Given the description of an element on the screen output the (x, y) to click on. 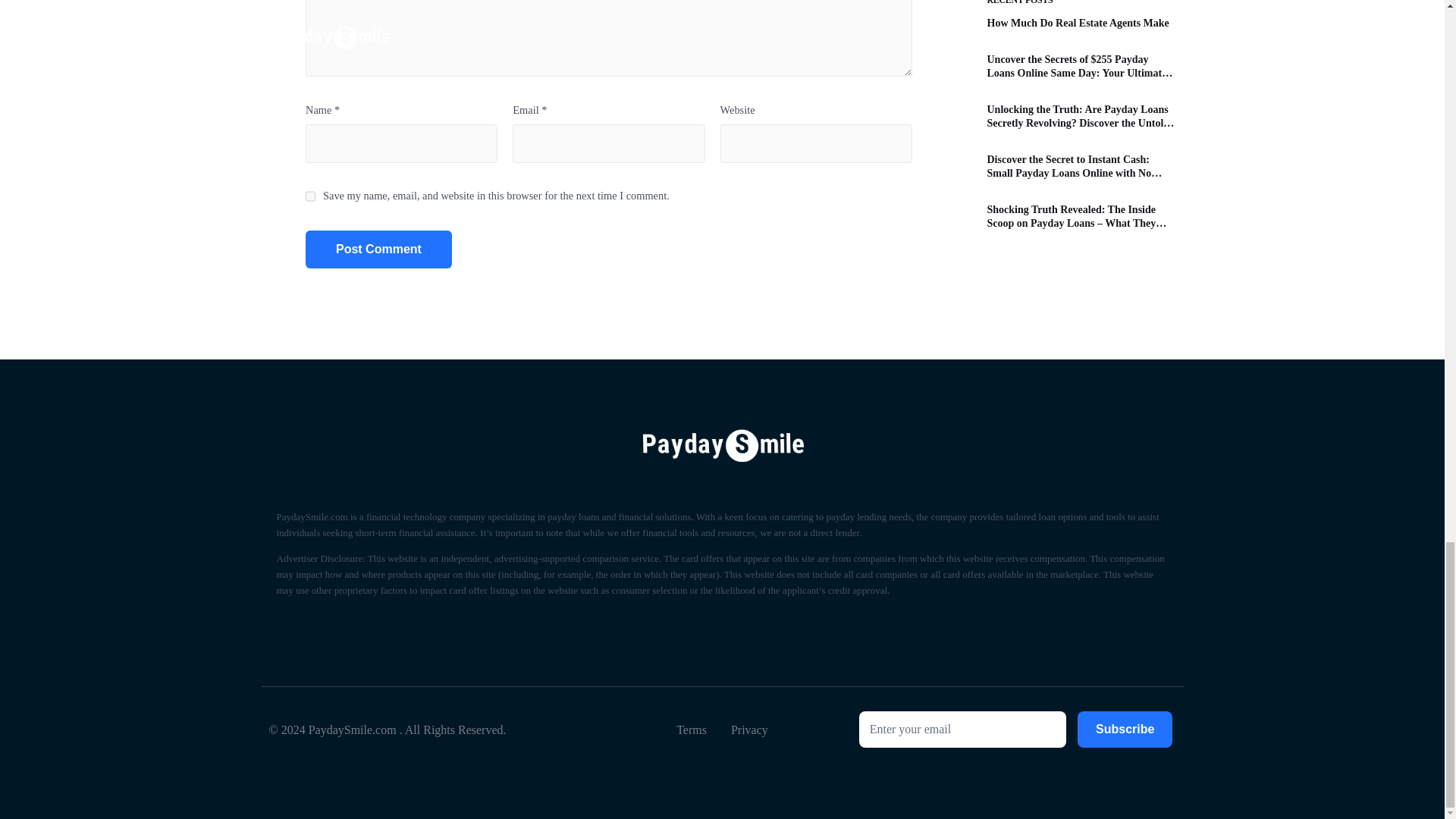
Privacy (749, 729)
Post Comment (378, 249)
Post Comment (378, 249)
Subscribe (1124, 729)
Terms (691, 729)
